Given the description of an element on the screen output the (x, y) to click on. 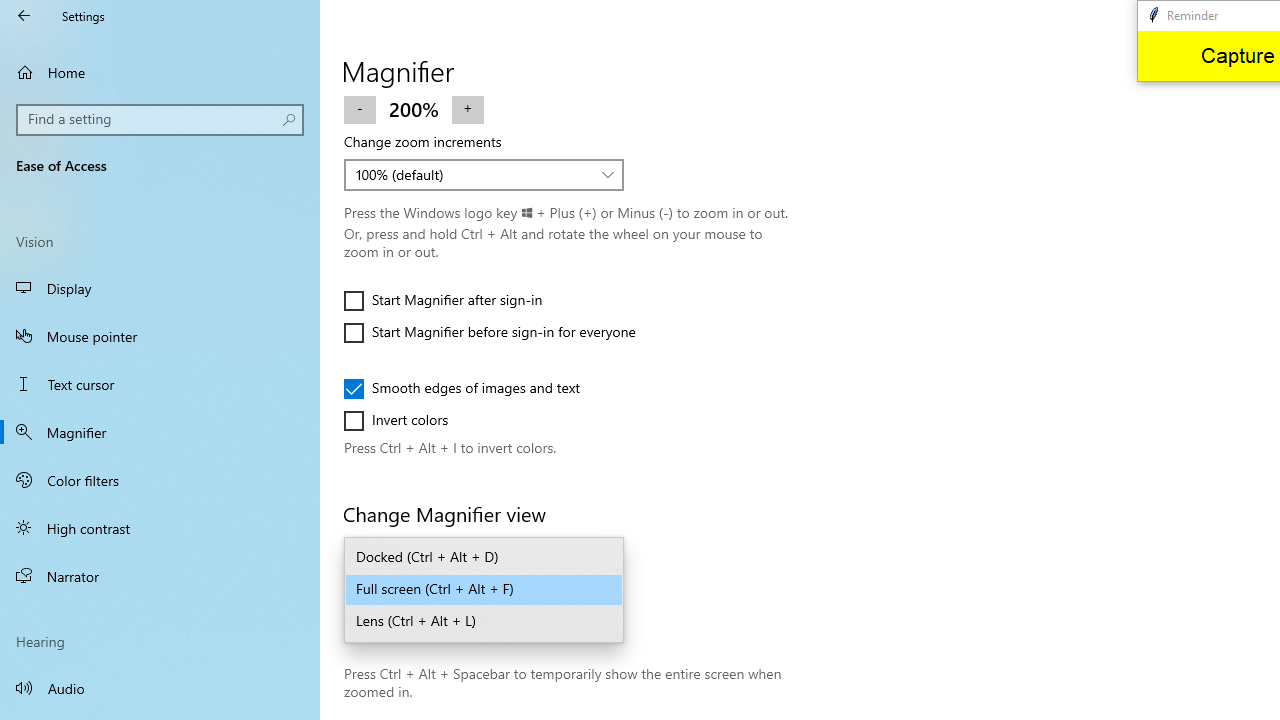
Audio (160, 687)
Color filters (160, 479)
Search box, Find a setting (160, 119)
Lens (Ctrl + Alt + L) (484, 621)
Docked (Ctrl + Alt + D) (484, 557)
Start Magnifier after sign-in (443, 300)
Display (160, 287)
Zoom out (360, 107)
Smooth edges of images and text (462, 388)
Choose a view (484, 589)
Make everything on my computer bigger (470, 23)
Text cursor (160, 384)
Start Magnifier before sign-in for everyone (490, 332)
Mouse pointer (160, 335)
Back (24, 15)
